Given the description of an element on the screen output the (x, y) to click on. 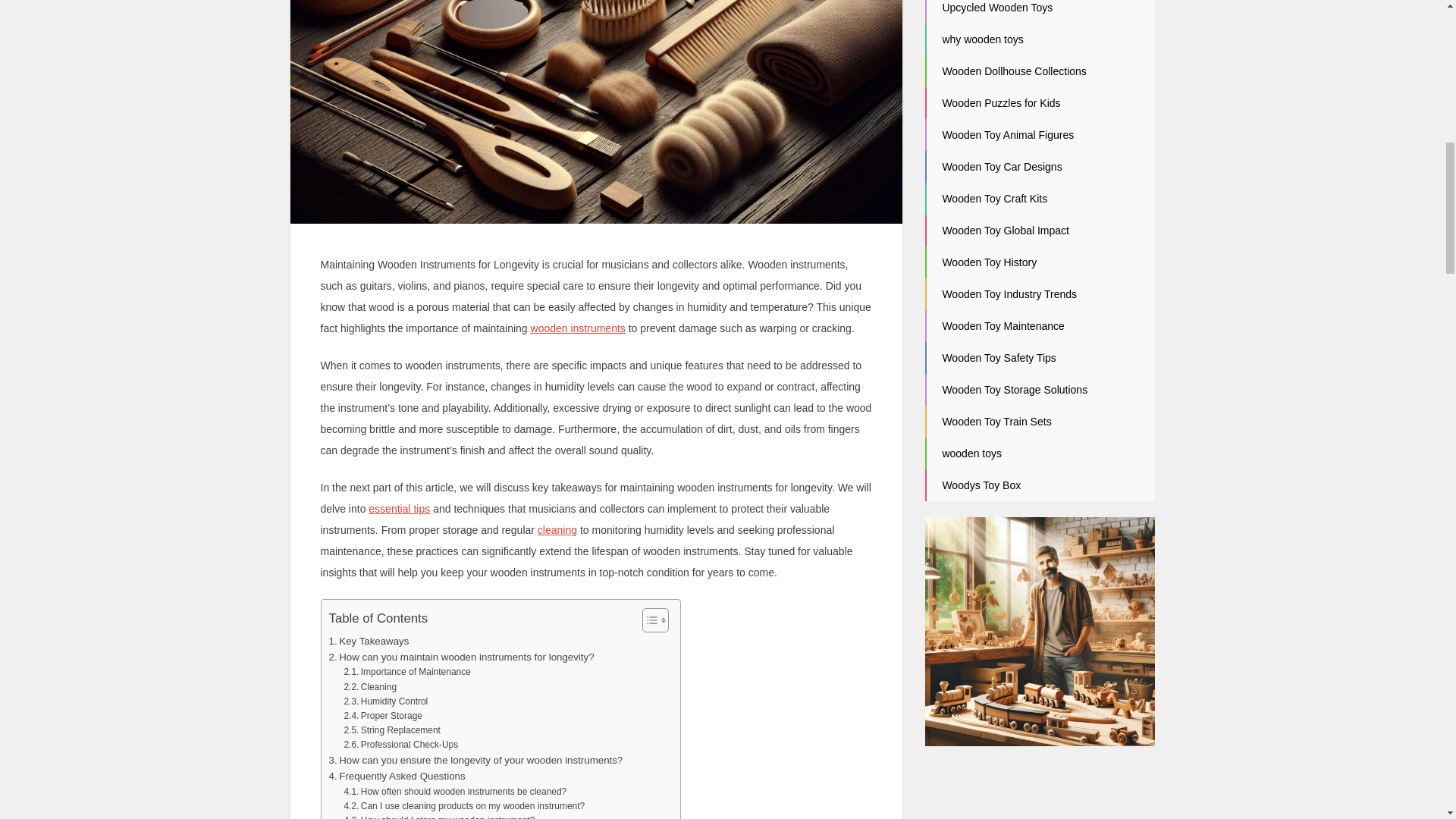
Frequently Asked Questions (397, 775)
wooden instruments (578, 328)
Importance of Maintenance (406, 672)
String Replacement (391, 730)
Cleaning (369, 687)
Proper Storage (382, 716)
String Replacement (391, 730)
Importance of Maintenance (406, 672)
How often should wooden instruments be cleaned? (454, 791)
Humidity Control (385, 701)
Humidity Control (385, 701)
How can you ensure the longevity of your wooden instruments? (476, 760)
